Given the description of an element on the screen output the (x, y) to click on. 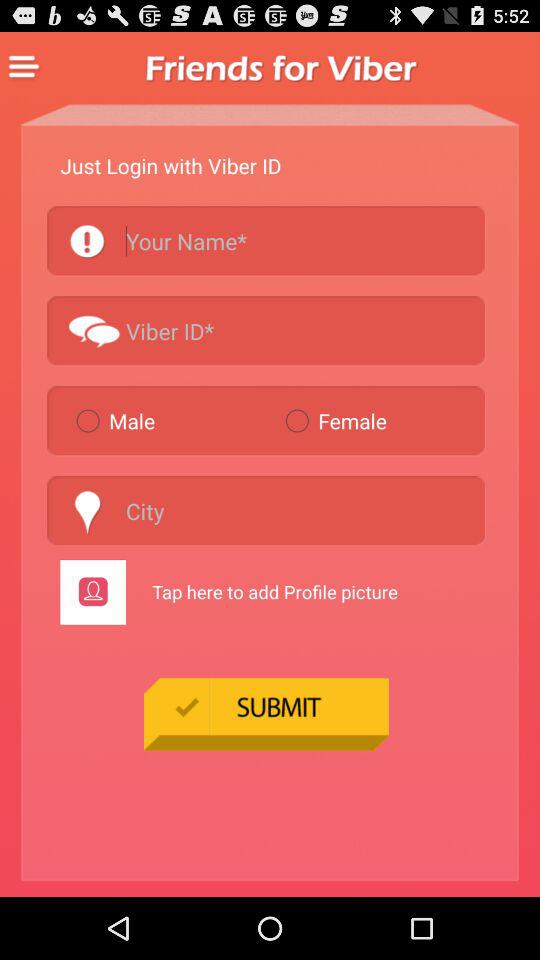
enter id (266, 330)
